Given the description of an element on the screen output the (x, y) to click on. 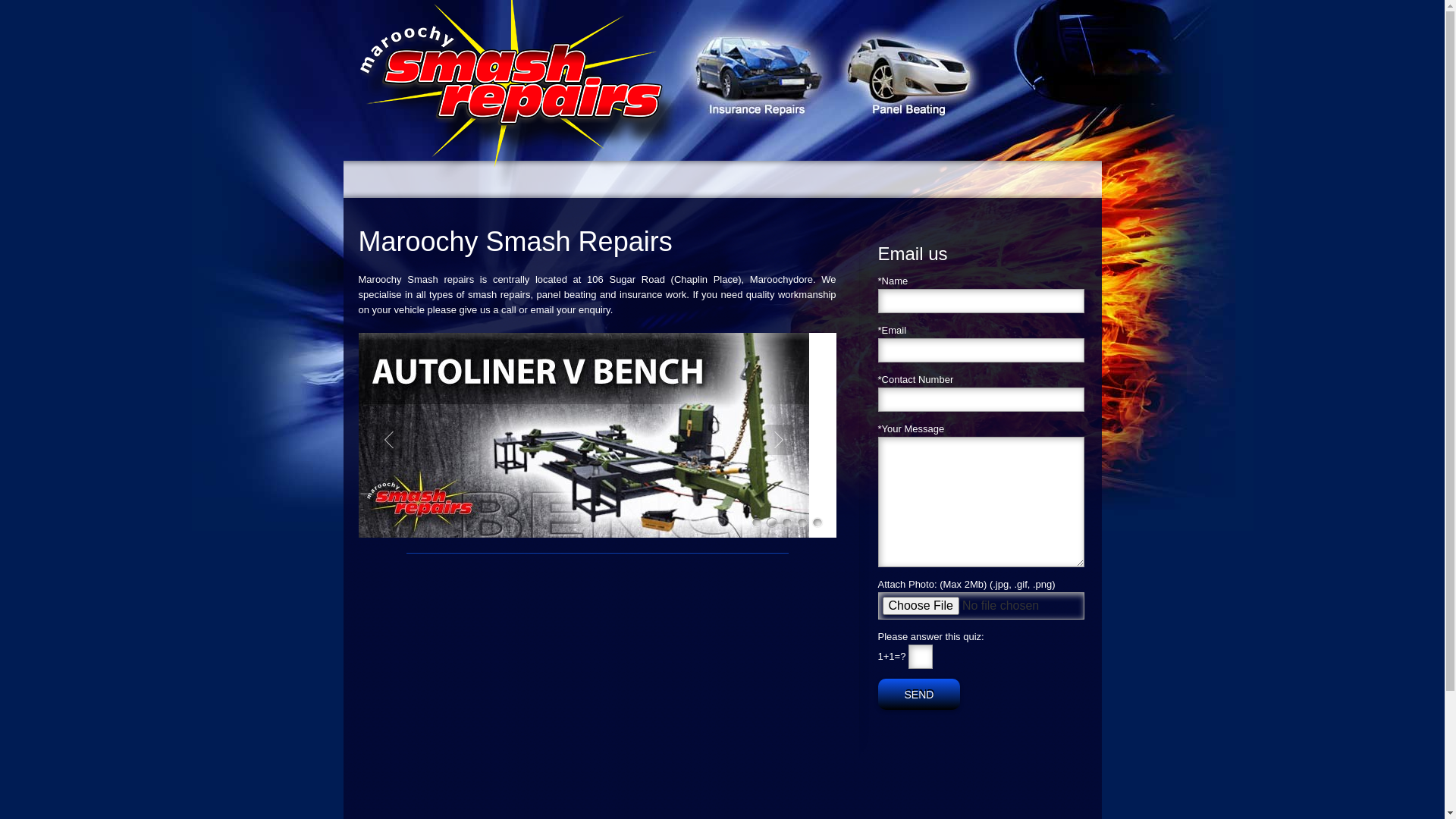
Prev Element type: text (388, 439)
2 Element type: text (771, 522)
Send Element type: text (919, 693)
5 Element type: text (817, 522)
4 Element type: text (802, 522)
1 Element type: text (756, 522)
3 Element type: text (787, 522)
Next Element type: text (777, 439)
